Given the description of an element on the screen output the (x, y) to click on. 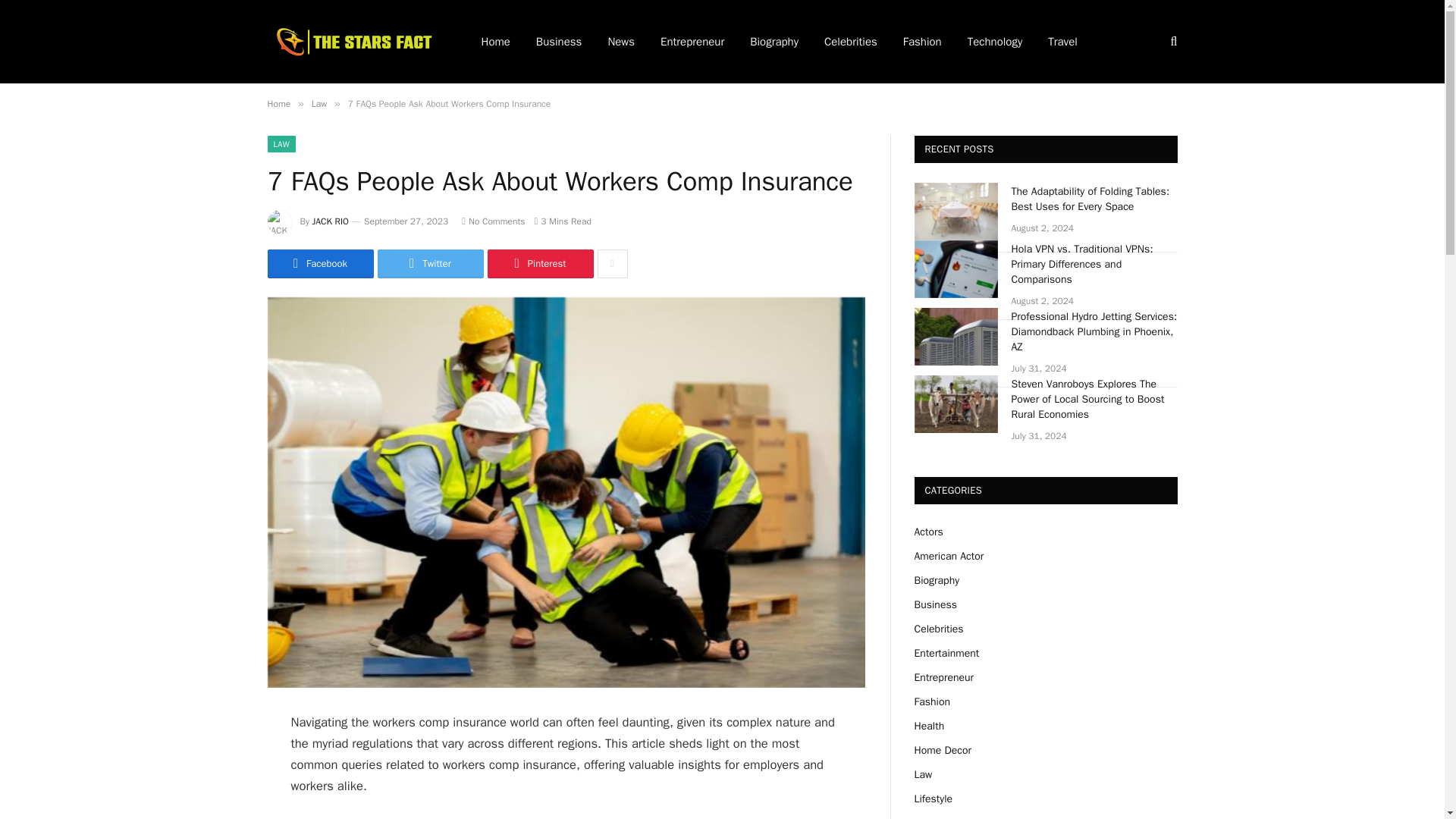
Biography (773, 41)
Law (318, 103)
Celebrities (849, 41)
Home (277, 103)
Share on Pinterest (539, 263)
Twitter (430, 263)
LAW (280, 143)
Posts by JACK RIO (331, 221)
Share on Facebook (319, 263)
Pinterest (539, 263)
Technology (995, 41)
JACK RIO (331, 221)
The Stars Fact (353, 41)
Facebook (319, 263)
